Given the description of an element on the screen output the (x, y) to click on. 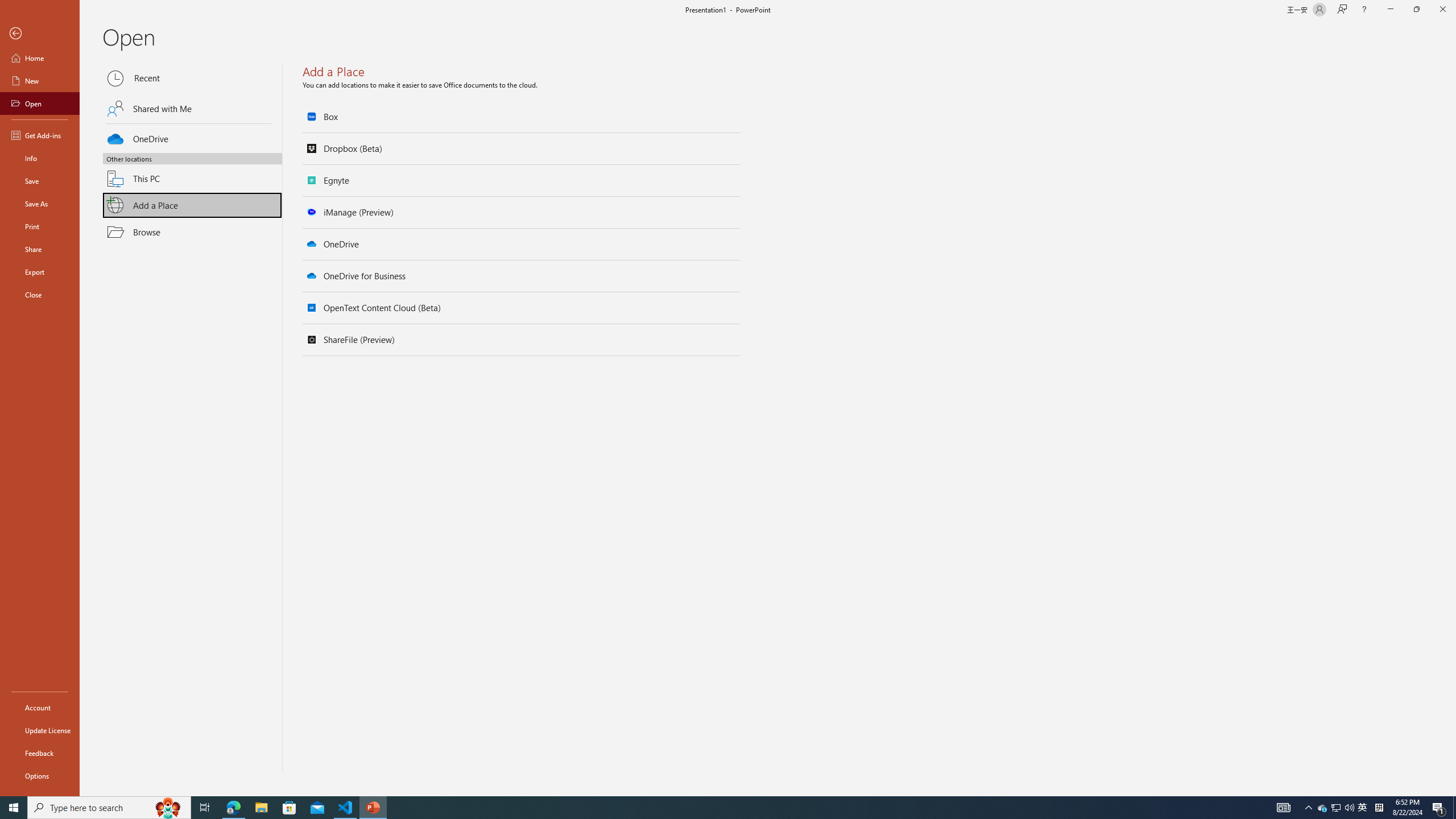
This PC (192, 171)
Feedback (40, 753)
Add a Place (192, 204)
OneDrive (521, 244)
Recent (192, 78)
OneDrive for Business (521, 276)
Box (521, 116)
Save As (40, 203)
Egnyte (521, 180)
Browse (192, 231)
Back (40, 33)
Dropbox (Beta) (521, 148)
